Given the description of an element on the screen output the (x, y) to click on. 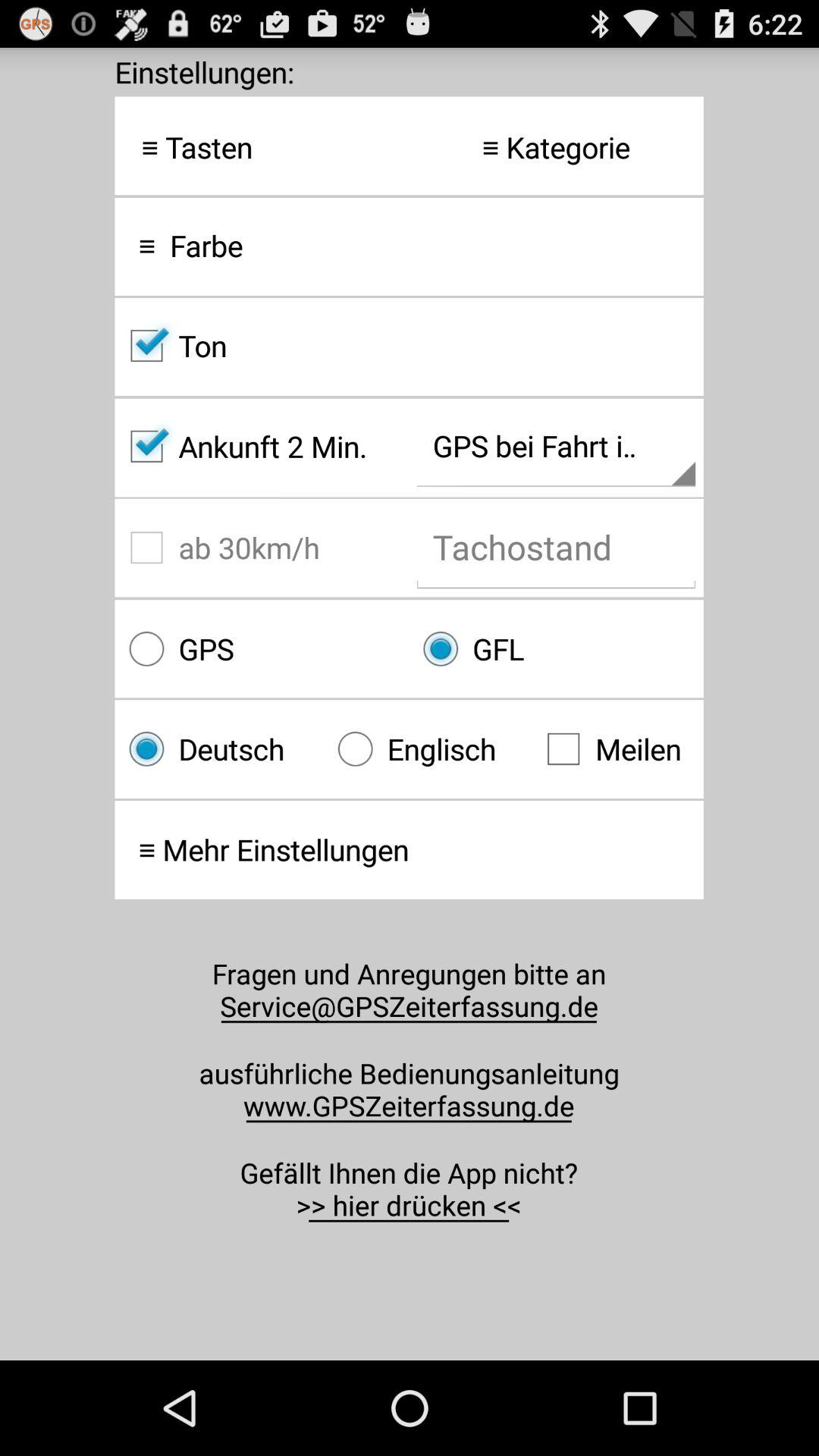
click item next to ab 30km/h icon (555, 648)
